Given the description of an element on the screen output the (x, y) to click on. 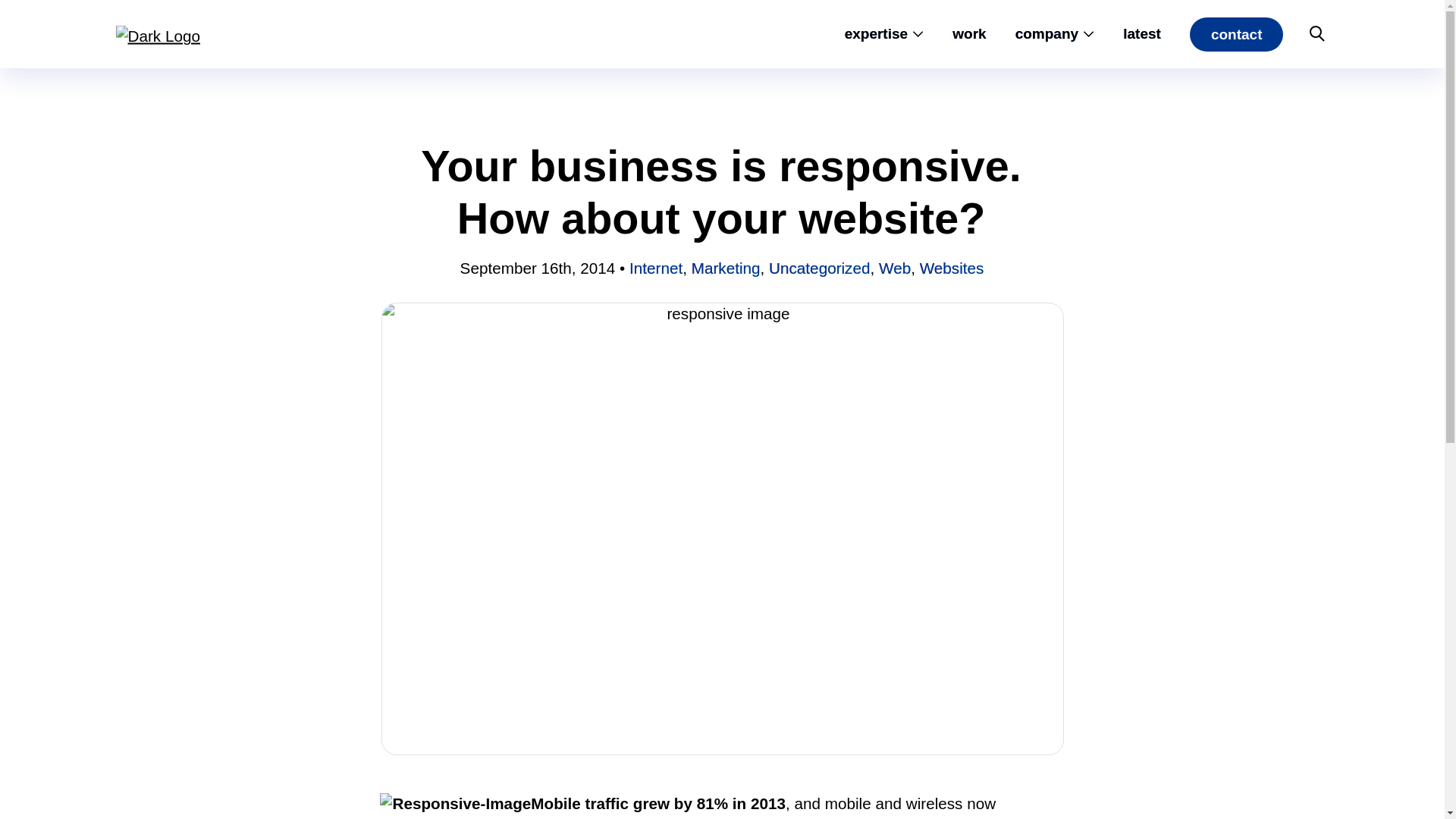
Marketing (725, 267)
Uncategorized (818, 267)
contact (1236, 33)
expertise (875, 33)
Websites (952, 267)
company (1046, 33)
Internet (655, 267)
Web (895, 267)
